Given the description of an element on the screen output the (x, y) to click on. 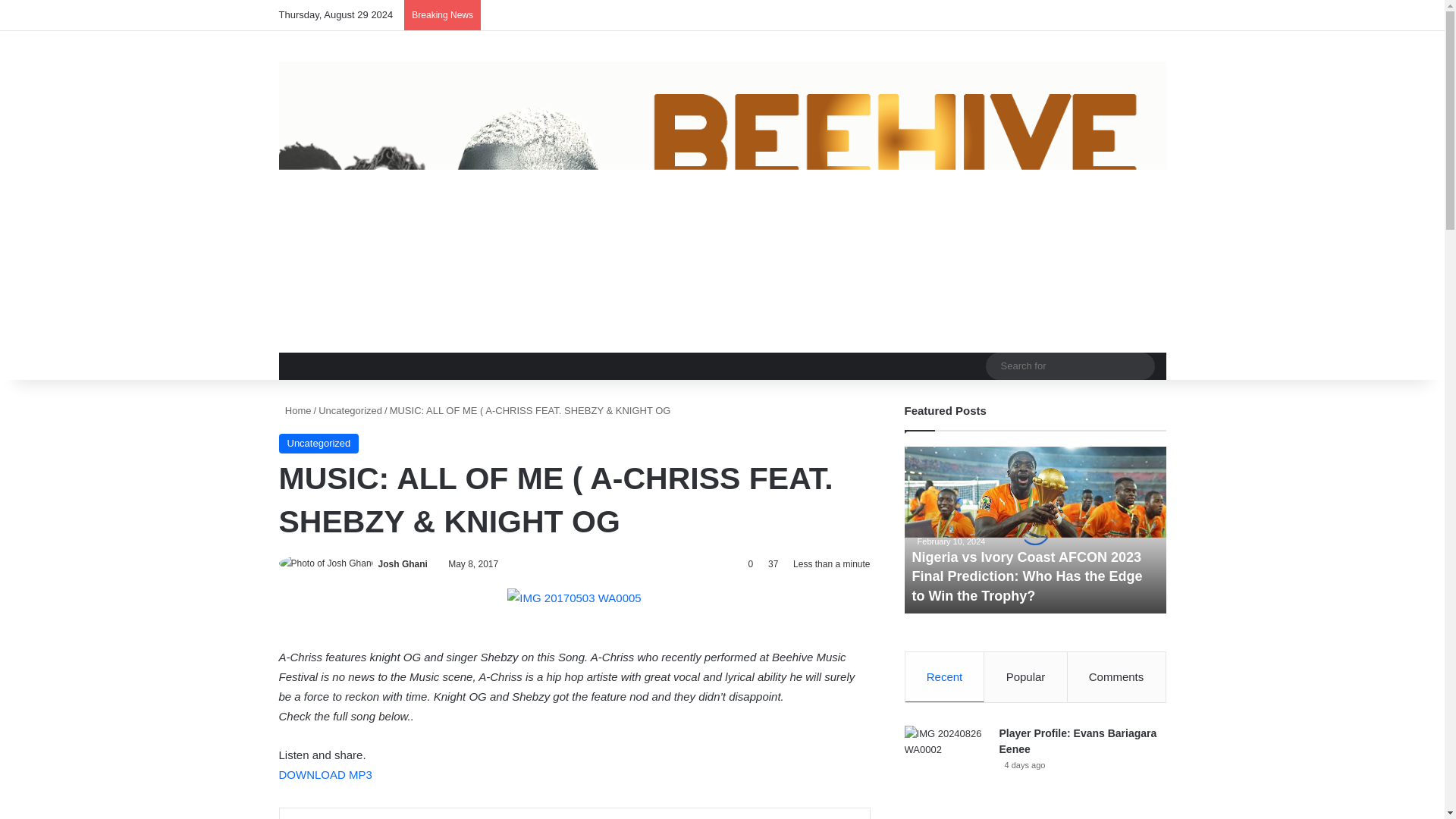
Uncategorized (319, 443)
Uncategorized (349, 410)
Home (295, 410)
Josh Ghani (403, 563)
Josh Ghani (403, 563)
DOWNLOAD MP3 (325, 774)
Search for (1139, 366)
Search for (1069, 365)
